Given the description of an element on the screen output the (x, y) to click on. 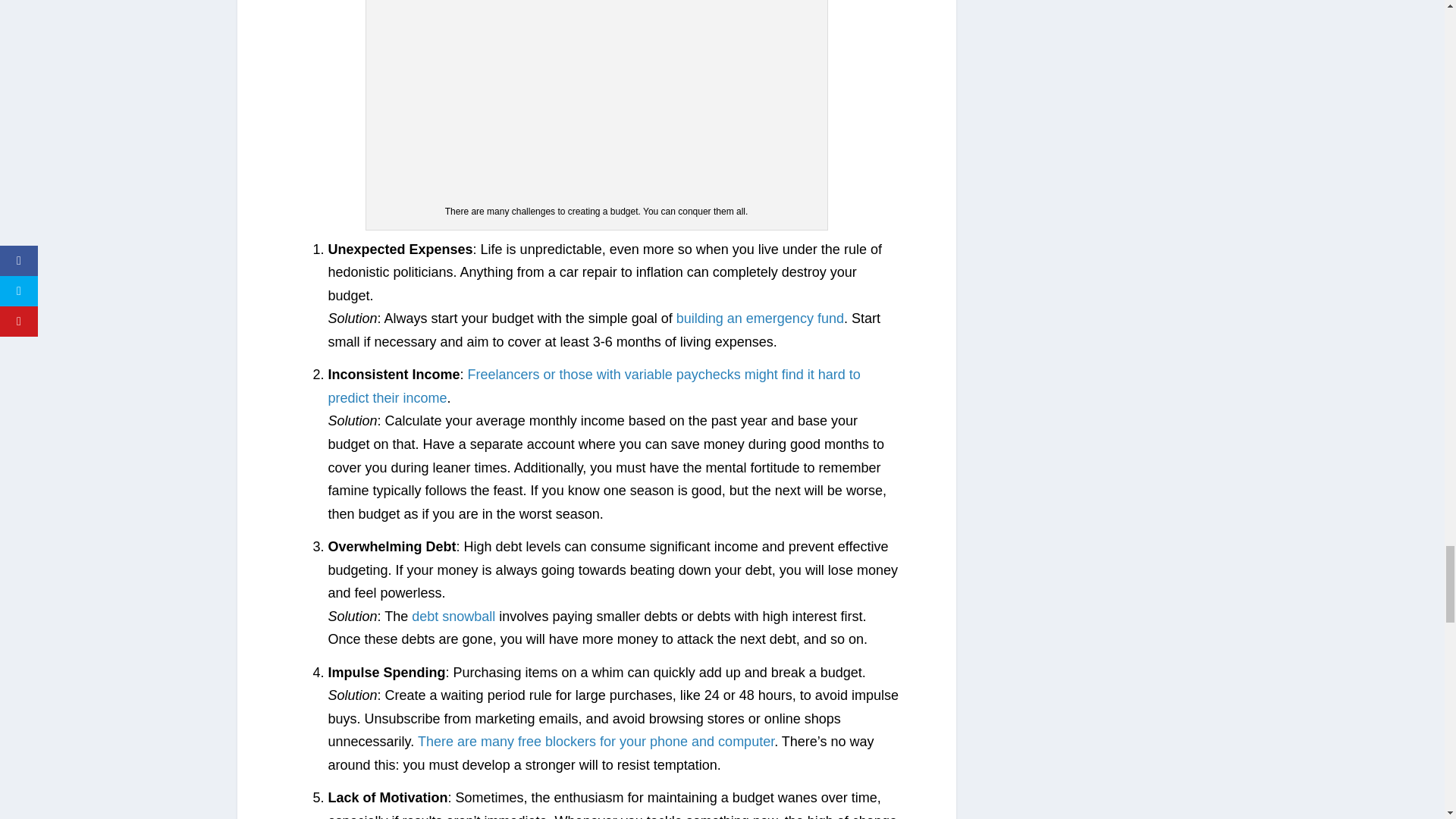
building an emergency fund (760, 318)
